Given the description of an element on the screen output the (x, y) to click on. 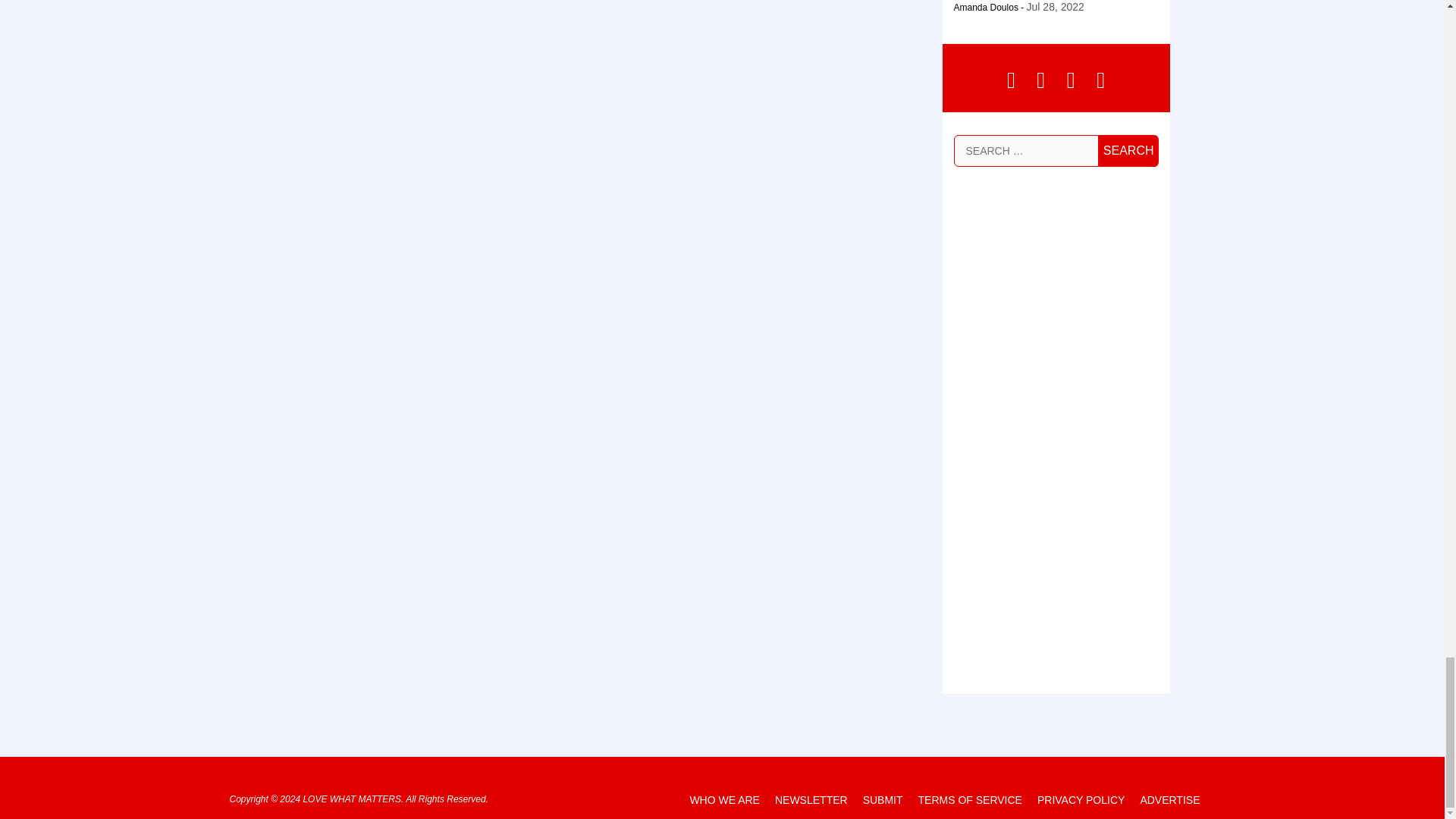
July 28, 2022 (1055, 6)
Search (1128, 151)
Search (1128, 151)
